Given the description of an element on the screen output the (x, y) to click on. 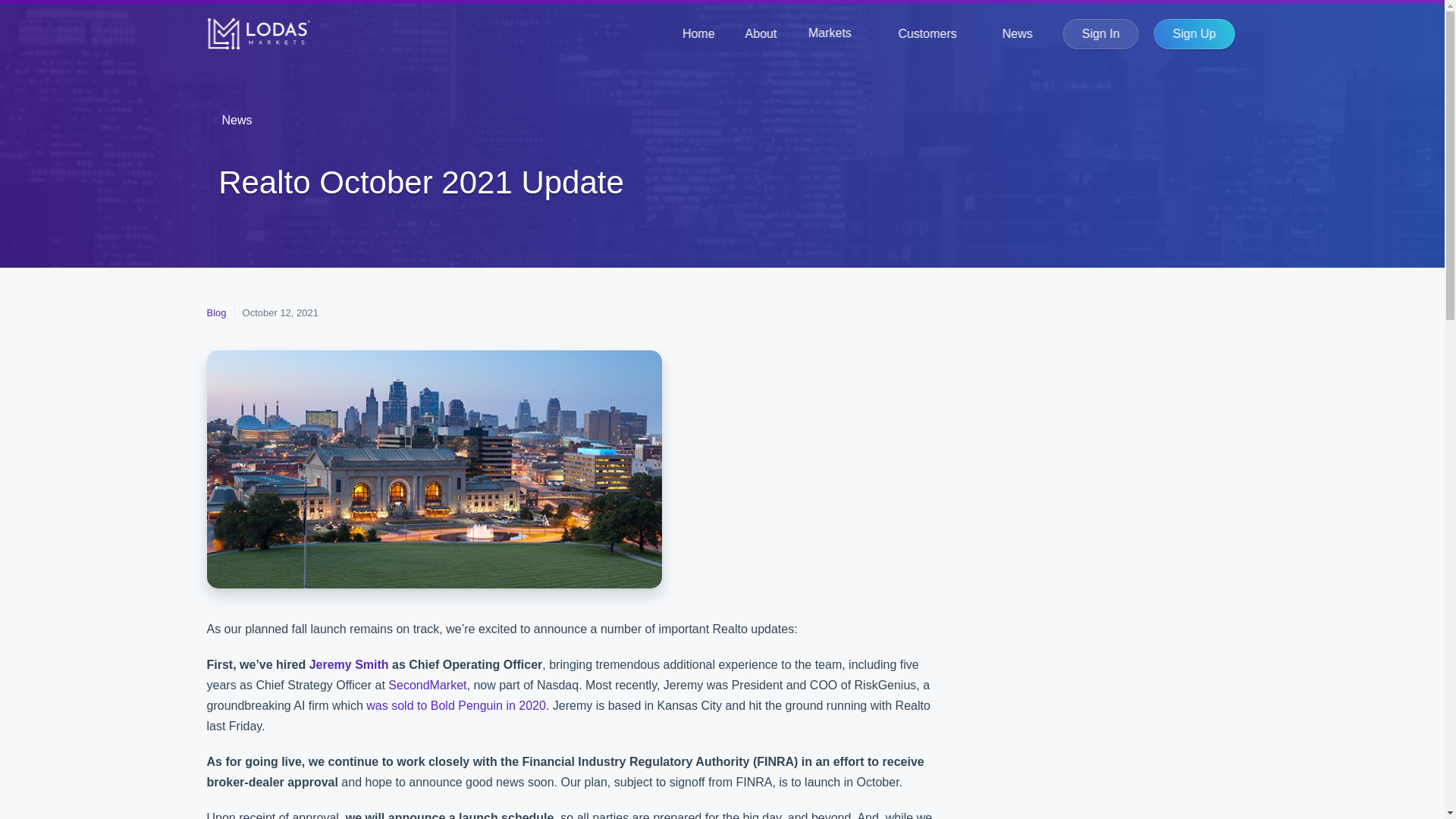
Blog (215, 312)
Sign In (1100, 33)
was sold to Bold Penguin in 2020 (456, 705)
Jeremy Smith (348, 664)
Home (698, 33)
News (1017, 33)
SecondMarket (426, 684)
About (761, 33)
Sign Up (1194, 33)
News (237, 119)
